Given the description of an element on the screen output the (x, y) to click on. 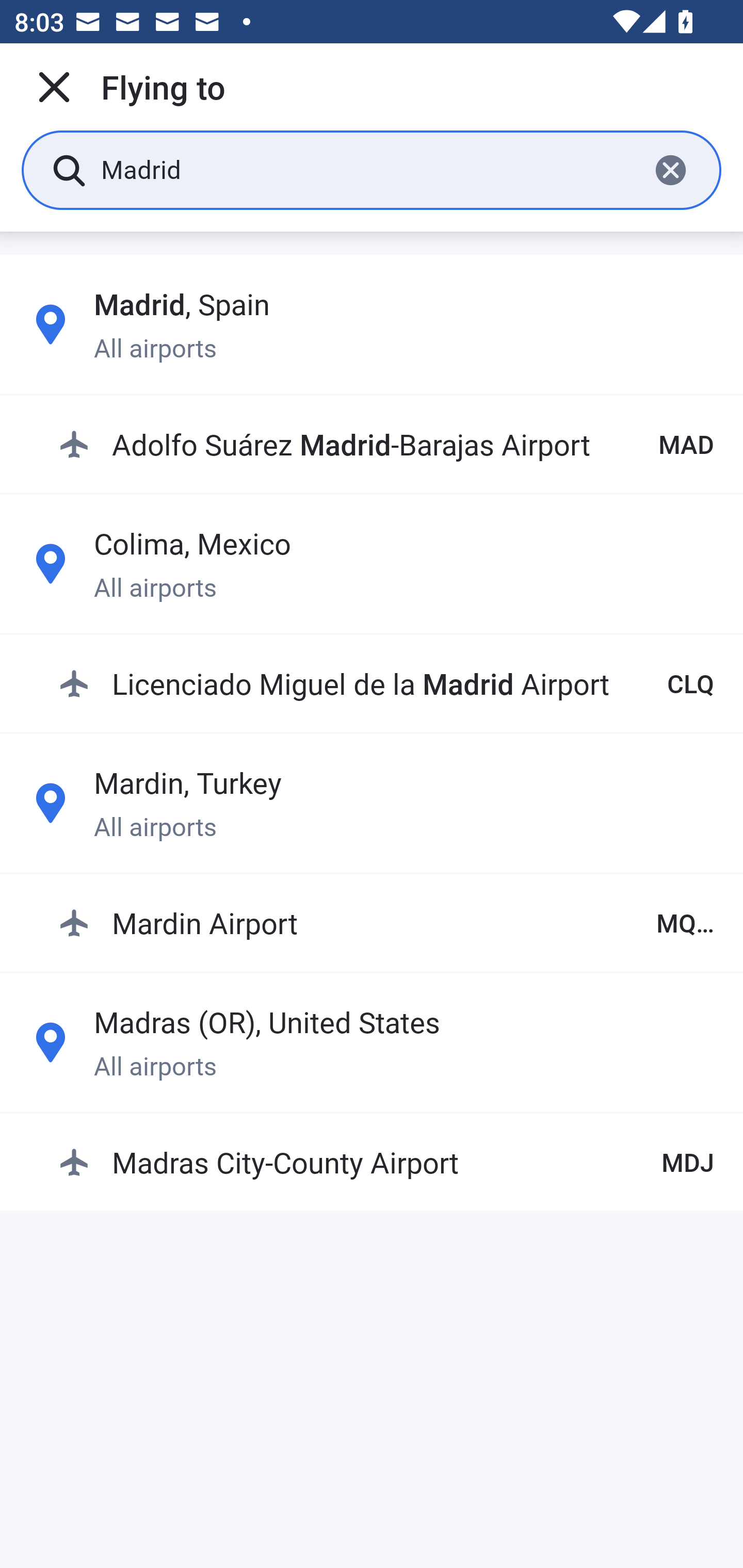
Madrid (367, 169)
Madrid, Spain All airports (371, 324)
Adolfo Suárez Madrid-Barajas Airport MAD (385, 444)
Colima, Mexico All airports (371, 563)
Licenciado Miguel de la Madrid Airport CLQ (385, 682)
Mardin, Turkey All airports (371, 803)
Mardin Airport MQM (385, 922)
Madras (OR), United States All airports (371, 1041)
Madras City-County Airport MDJ (385, 1161)
